Given the description of an element on the screen output the (x, y) to click on. 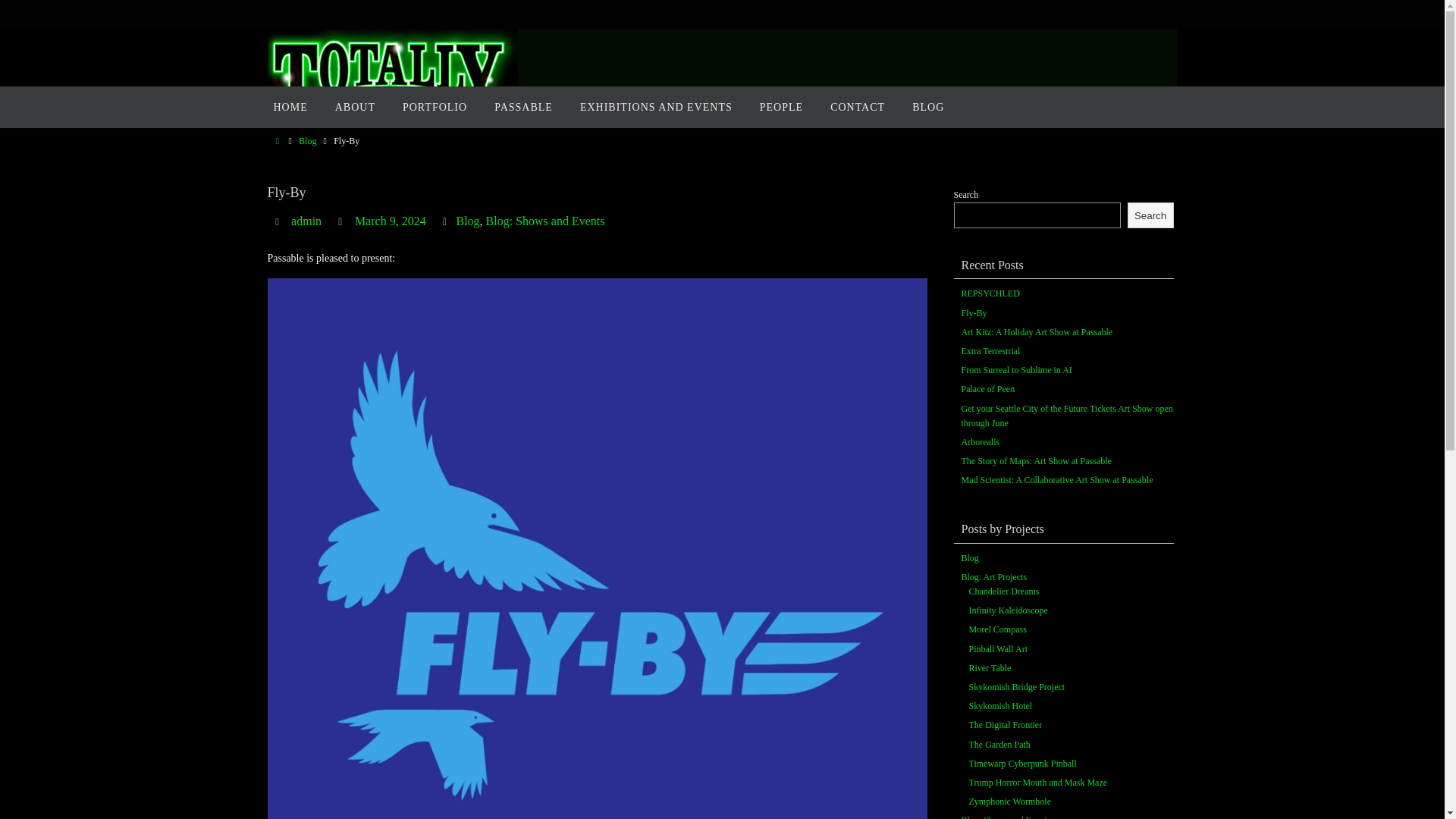
Search (1149, 215)
Skykomish Bridge Project (1017, 686)
Blog (467, 221)
BLOG (928, 106)
admin (306, 221)
Extra Terrestrial (990, 351)
Fly-By (973, 313)
Blog (969, 558)
River Table (990, 668)
EXHIBITIONS AND EVENTS (655, 106)
Categories (447, 220)
Date (342, 220)
Blog: Shows and Events (545, 221)
View all posts by admin (306, 221)
CONTACT (857, 106)
